Given the description of an element on the screen output the (x, y) to click on. 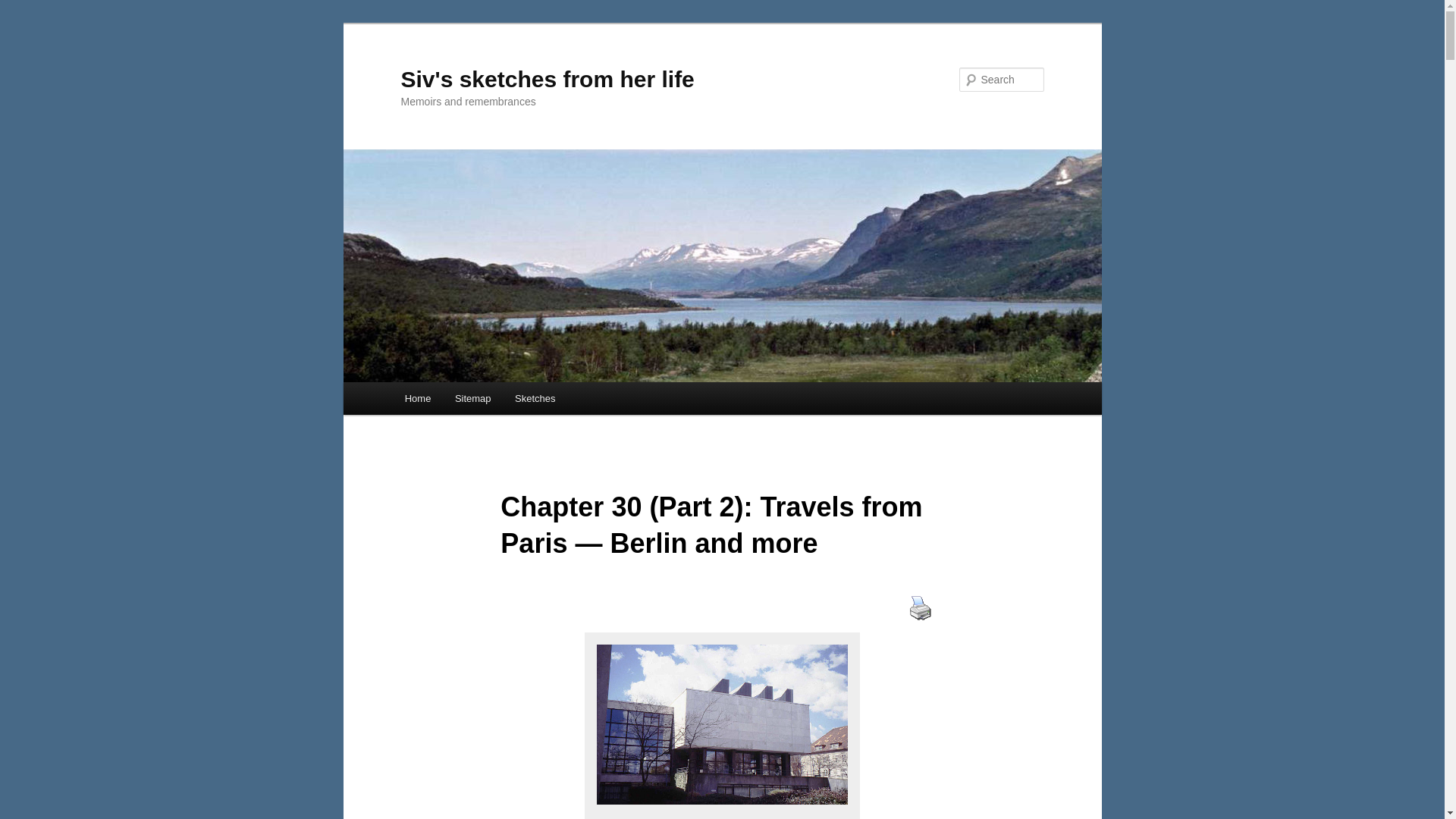
Search (24, 8)
Home (417, 398)
Sketches (534, 398)
Print Content (920, 608)
Siv's sketches from her life (547, 78)
Sitemap (472, 398)
